Given the description of an element on the screen output the (x, y) to click on. 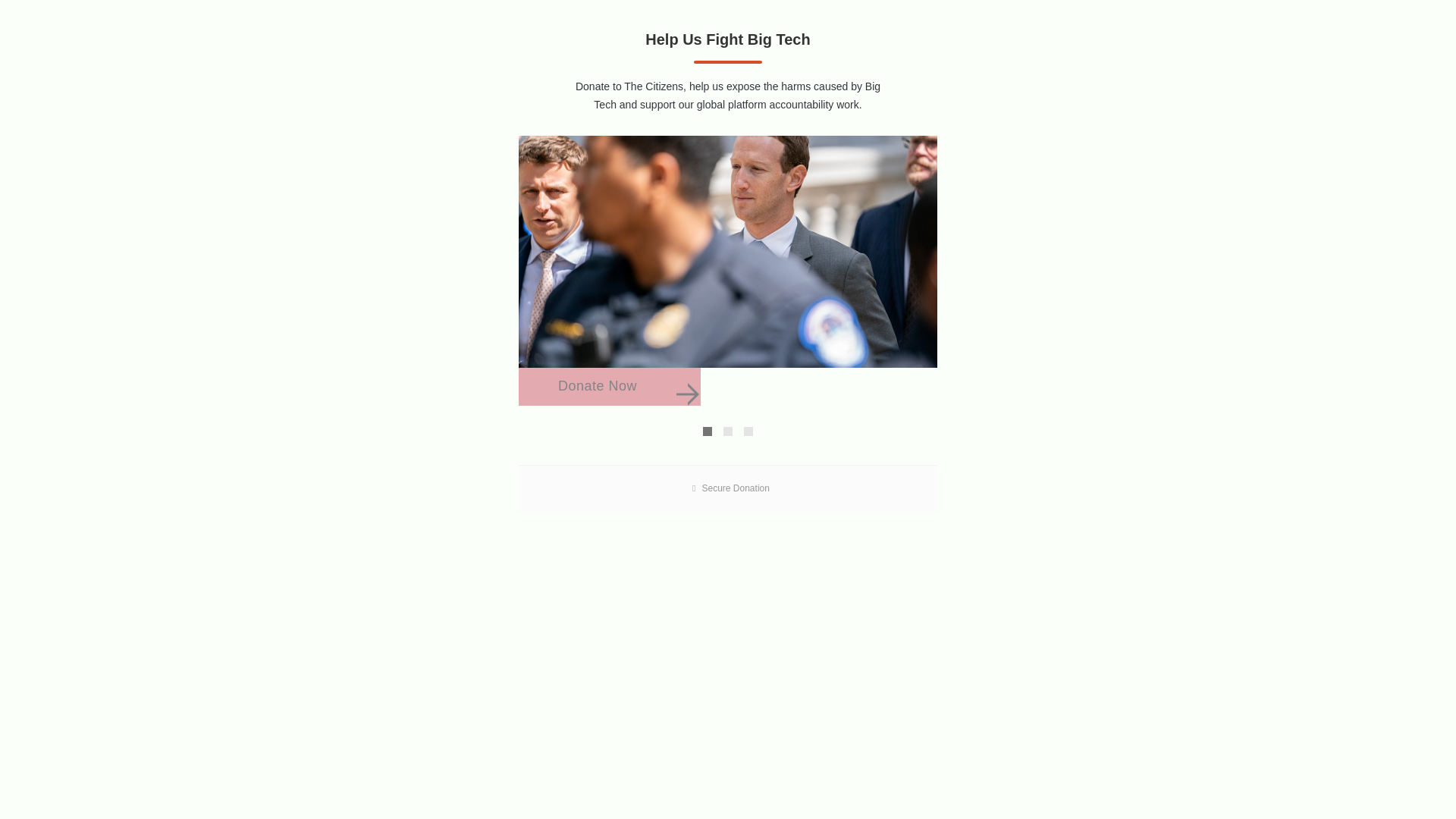
Donate Now (609, 386)
